Given the description of an element on the screen output the (x, y) to click on. 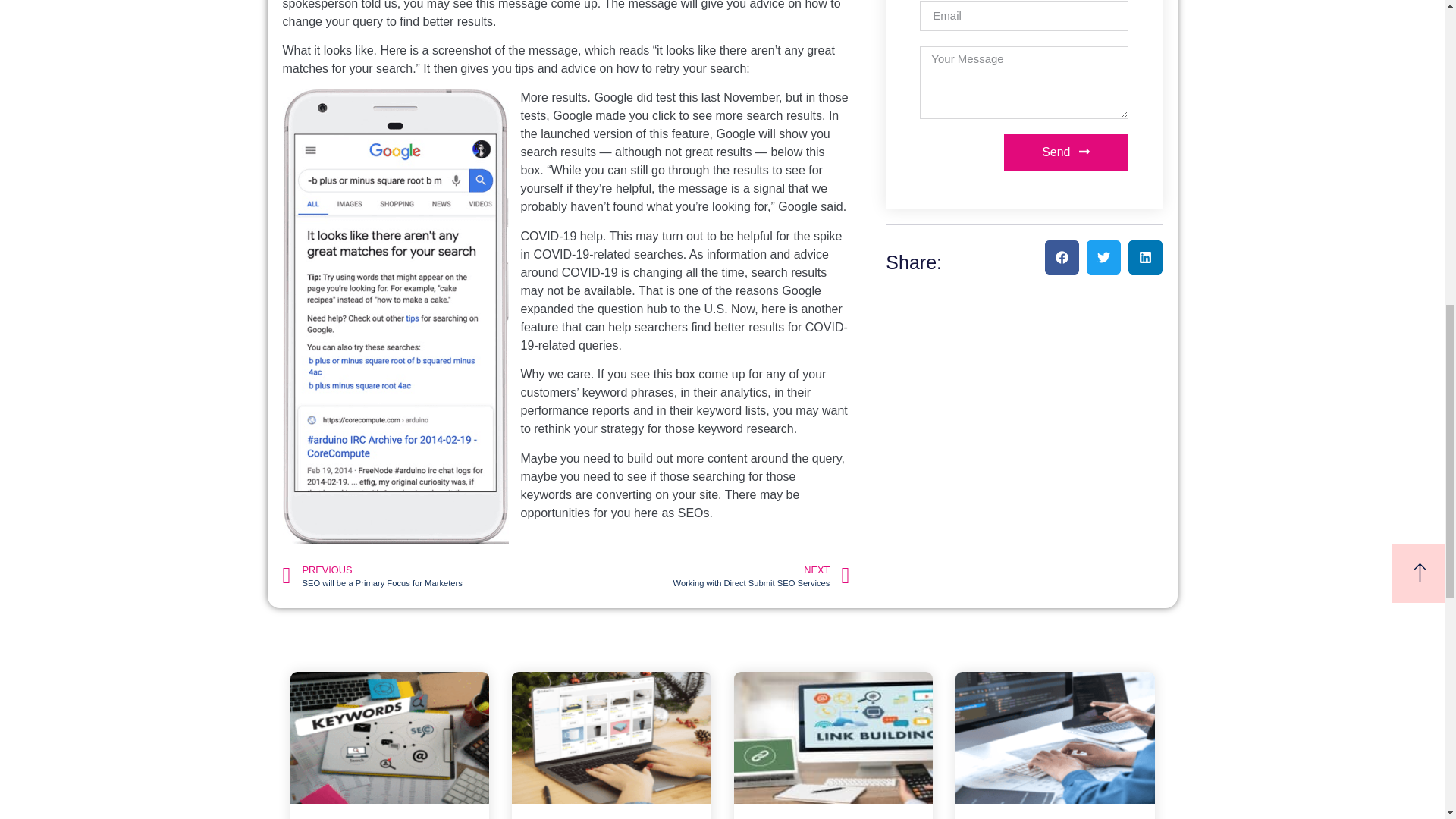
Send (423, 575)
